Given the description of an element on the screen output the (x, y) to click on. 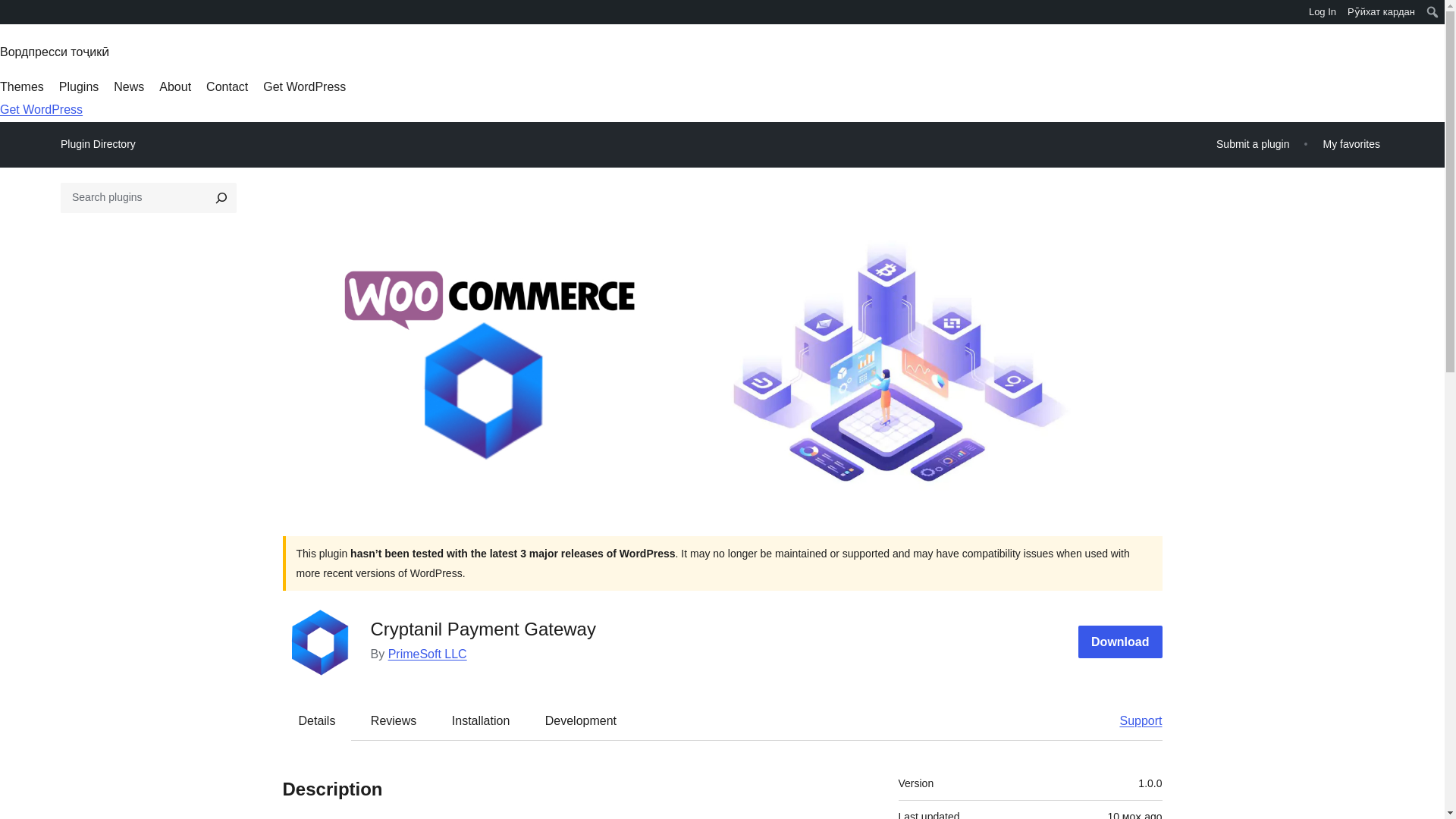
WordPress.org (10, 10)
Contact (226, 87)
About (174, 87)
Details (316, 720)
Reviews (392, 720)
Themes (21, 87)
Installation (480, 720)
Get WordPress (41, 109)
My favorites (1351, 144)
Plugin Directory (97, 143)
News (128, 87)
Plugins (79, 87)
WordPress.org (10, 16)
Submit a plugin (1253, 144)
Download (1119, 641)
